Given the description of an element on the screen output the (x, y) to click on. 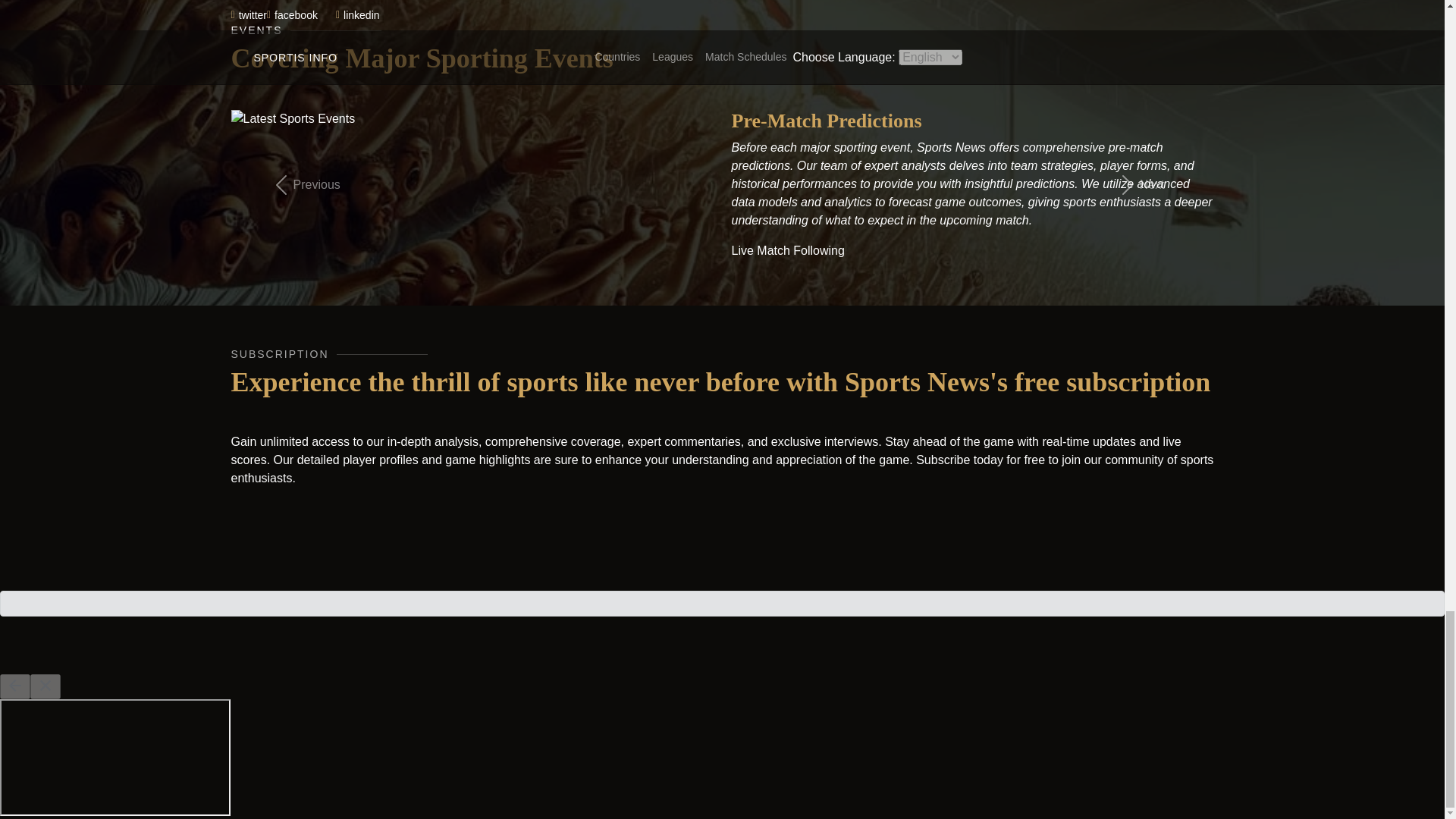
Previous (303, 184)
Next (1138, 184)
